Given the description of an element on the screen output the (x, y) to click on. 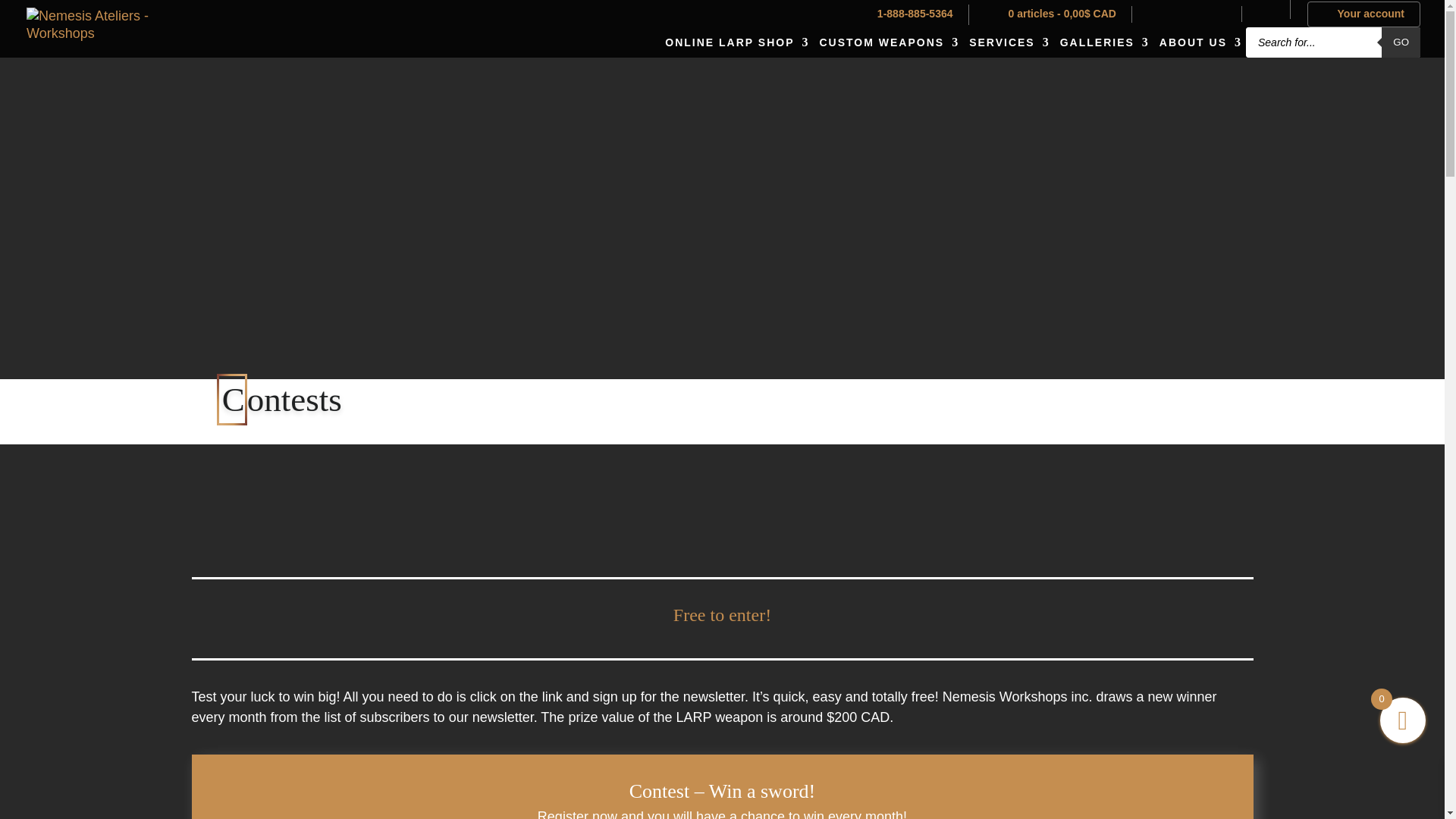
Your account (1364, 14)
CUSTOM WEAPONS (885, 42)
1-888-885-5364 (901, 13)
GO (1401, 42)
ONLINE LARP SHOP (734, 42)
GALLERIES (1102, 42)
SERVICES (1005, 42)
ABOUT US (1197, 42)
View your shopping cart (1051, 13)
